Given the description of an element on the screen output the (x, y) to click on. 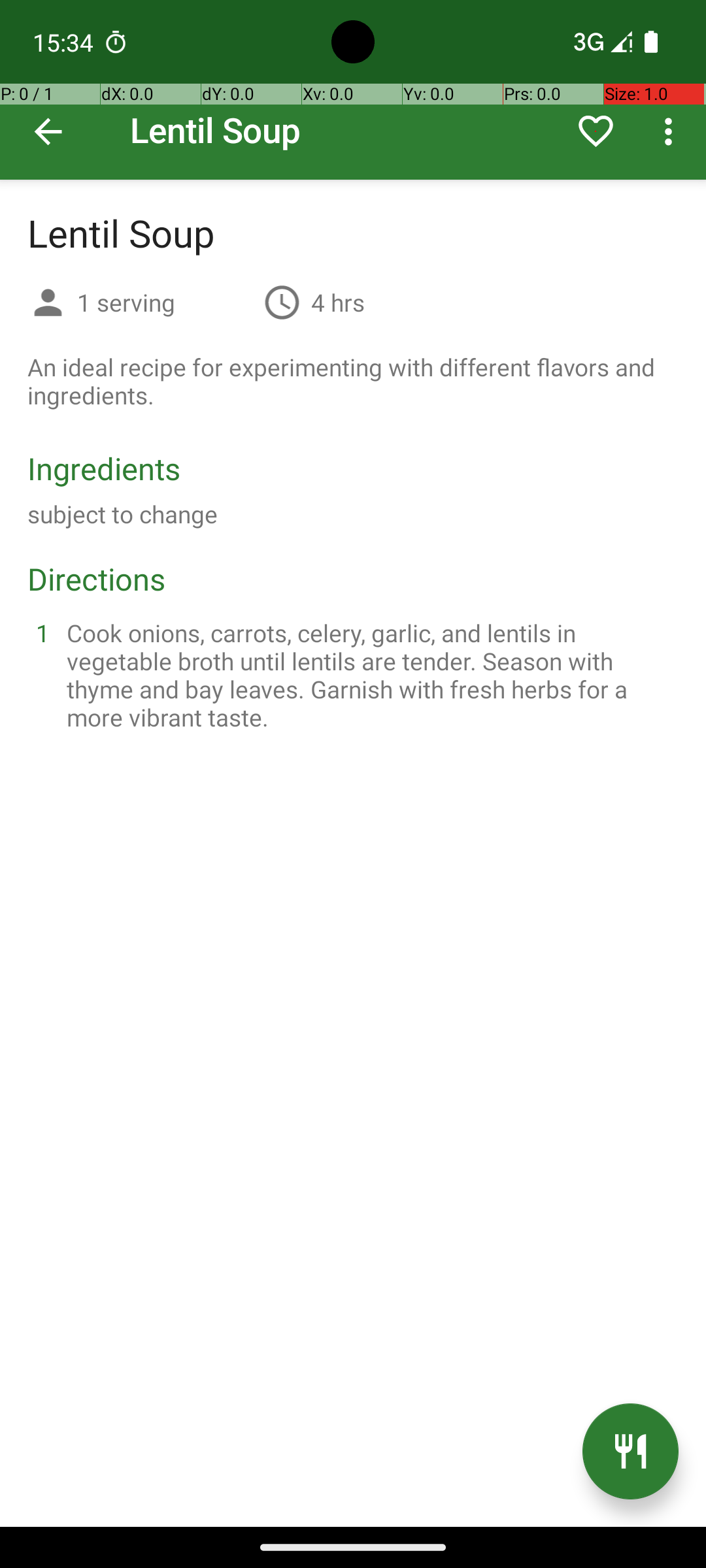
Cook onions, carrots, celery, garlic, and lentils in vegetable broth until lentils are tender. Season with thyme and bay leaves. Garnish with fresh herbs for a more vibrant taste. Element type: android.widget.TextView (368, 674)
